Given the description of an element on the screen output the (x, y) to click on. 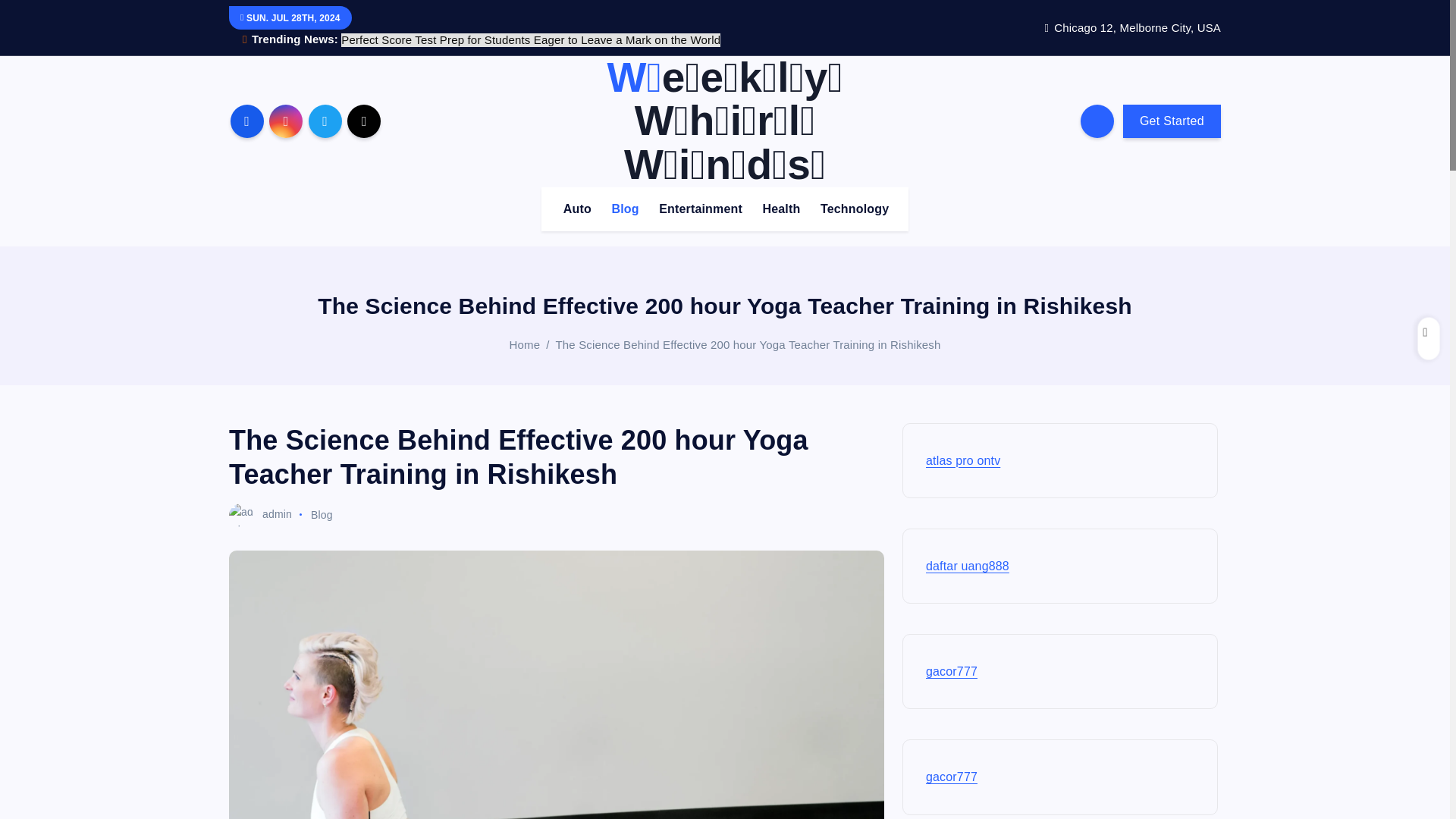
Auto (576, 208)
Get Started (1171, 121)
Entertainment (700, 208)
Blog (322, 513)
Blog (624, 208)
Health (781, 208)
Technology (854, 208)
Health (781, 208)
Home (524, 344)
admin (260, 513)
Auto (576, 208)
Blog (624, 208)
Technology (854, 208)
Entertainment (700, 208)
